Given the description of an element on the screen output the (x, y) to click on. 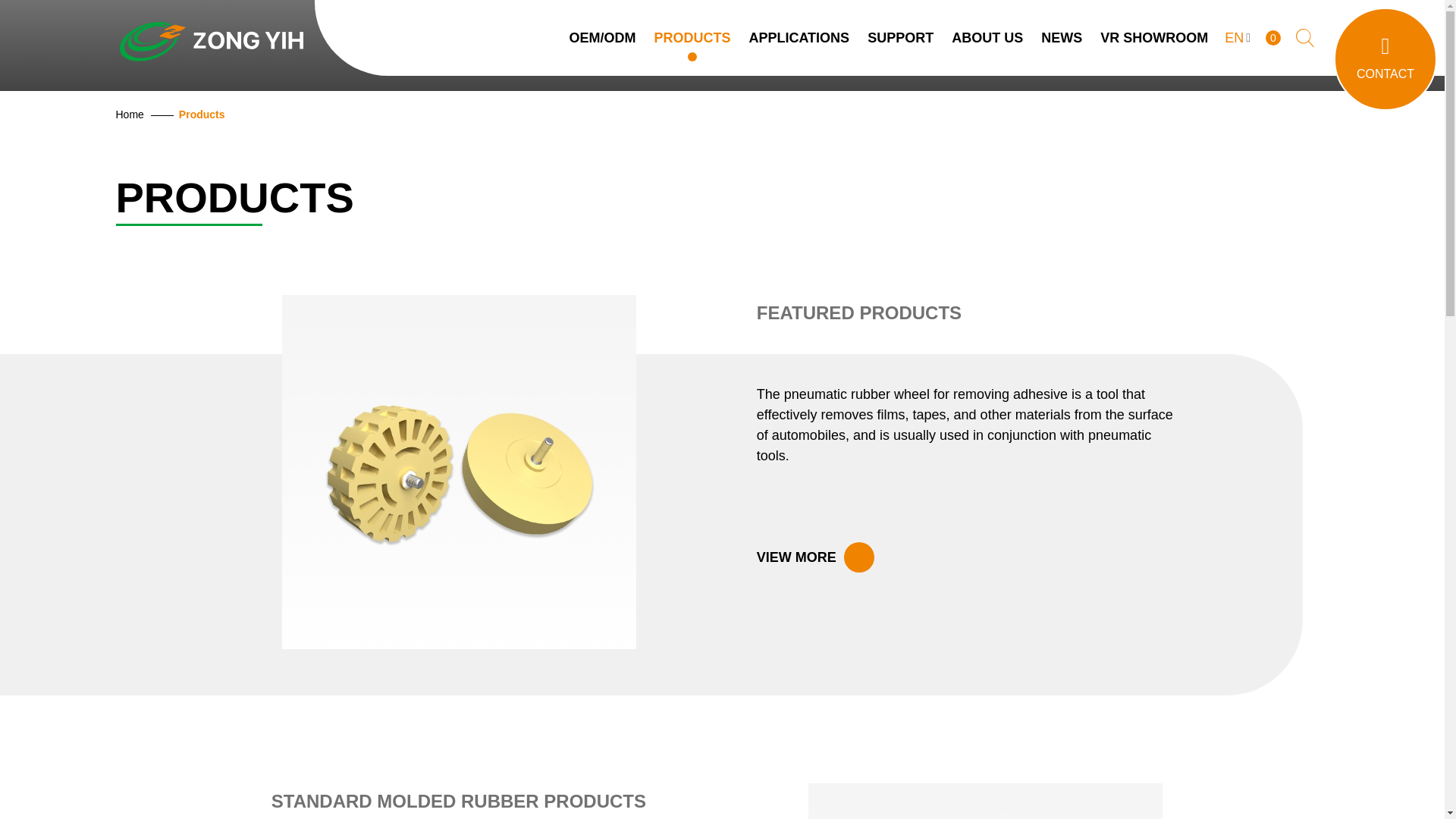
PRODUCTS (692, 38)
APPLICATIONS (799, 38)
CONTACT (1385, 58)
